Given the description of an element on the screen output the (x, y) to click on. 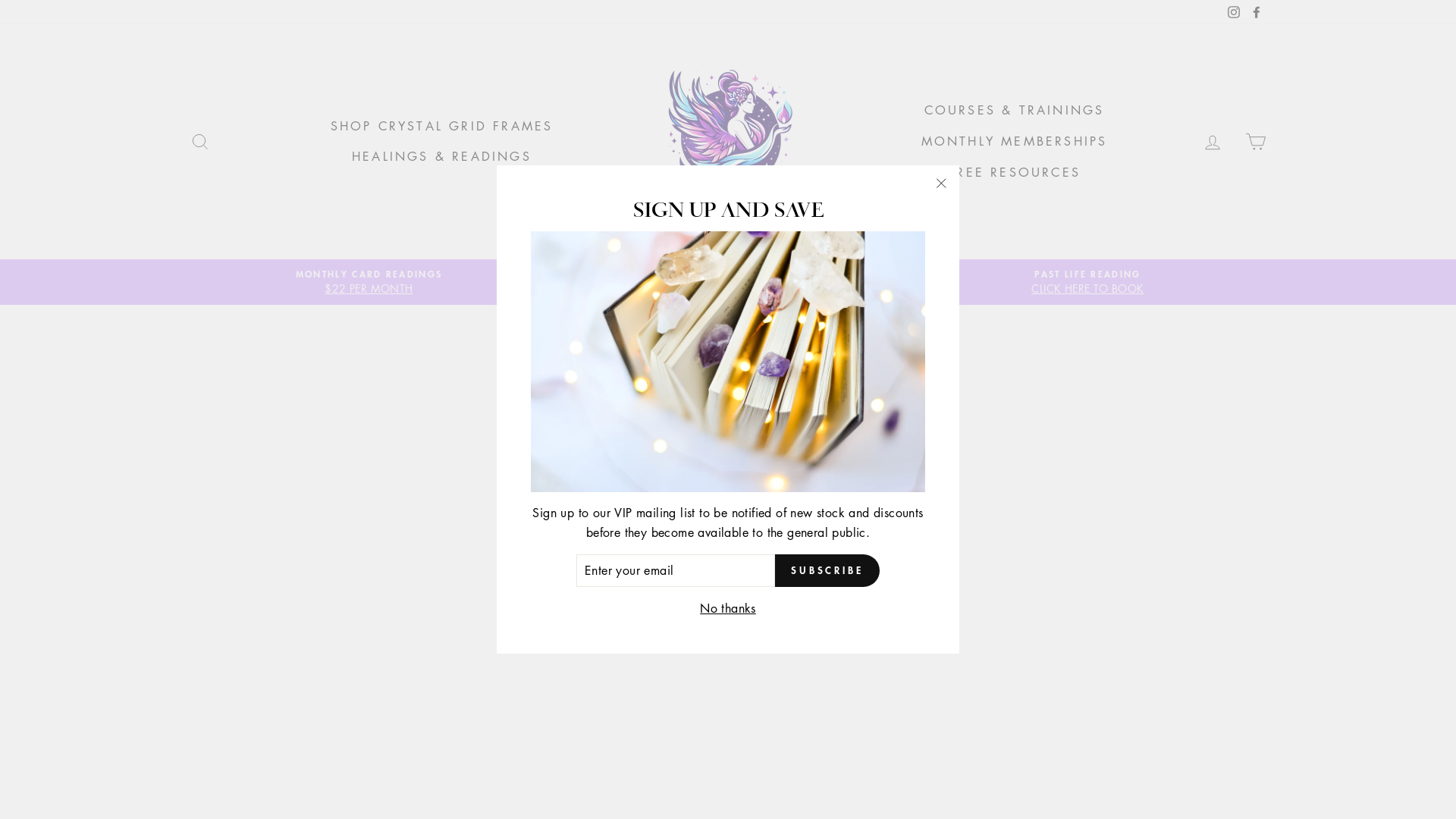
LOG IN Element type: text (1212, 141)
MONTHLY CARD READINGS
$22 PER MONTH Element type: text (369, 281)
PAST LIFE READING
CLICK HERE TO BOOK Element type: text (1088, 281)
Continue shopping Element type: text (727, 496)
Skip to content Element type: text (0, 0)
SUBSCRIBE Element type: text (827, 569)
No thanks Element type: text (727, 608)
"Close (esc)" Element type: text (940, 183)
CART Element type: text (1255, 141)
SEARCH Element type: text (199, 141)
Instagram Element type: text (1233, 12)
Facebook Element type: text (1256, 12)
